Given the description of an element on the screen output the (x, y) to click on. 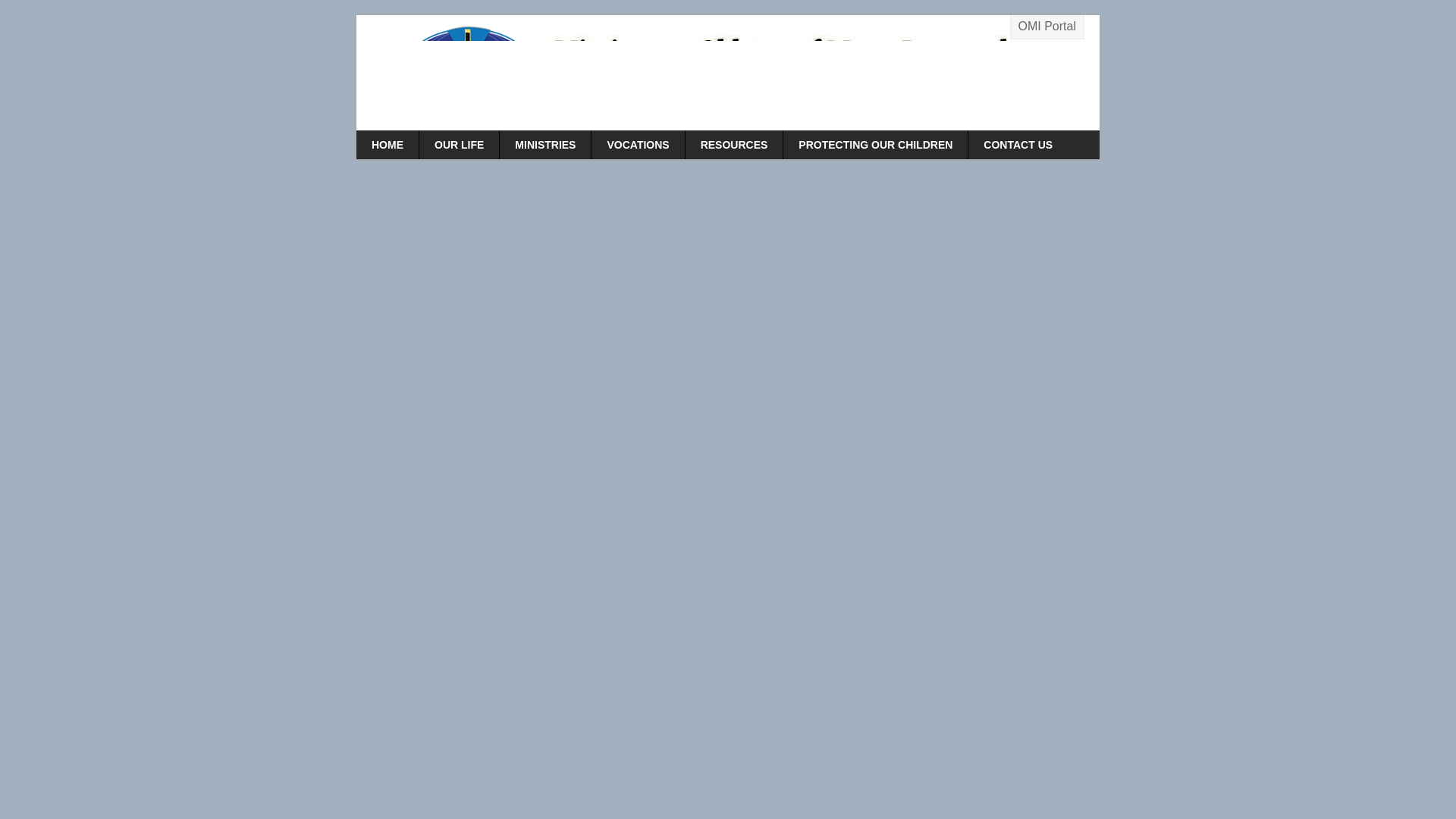
OMI Portal (1046, 26)
OMIUSA (727, 72)
